Given the description of an element on the screen output the (x, y) to click on. 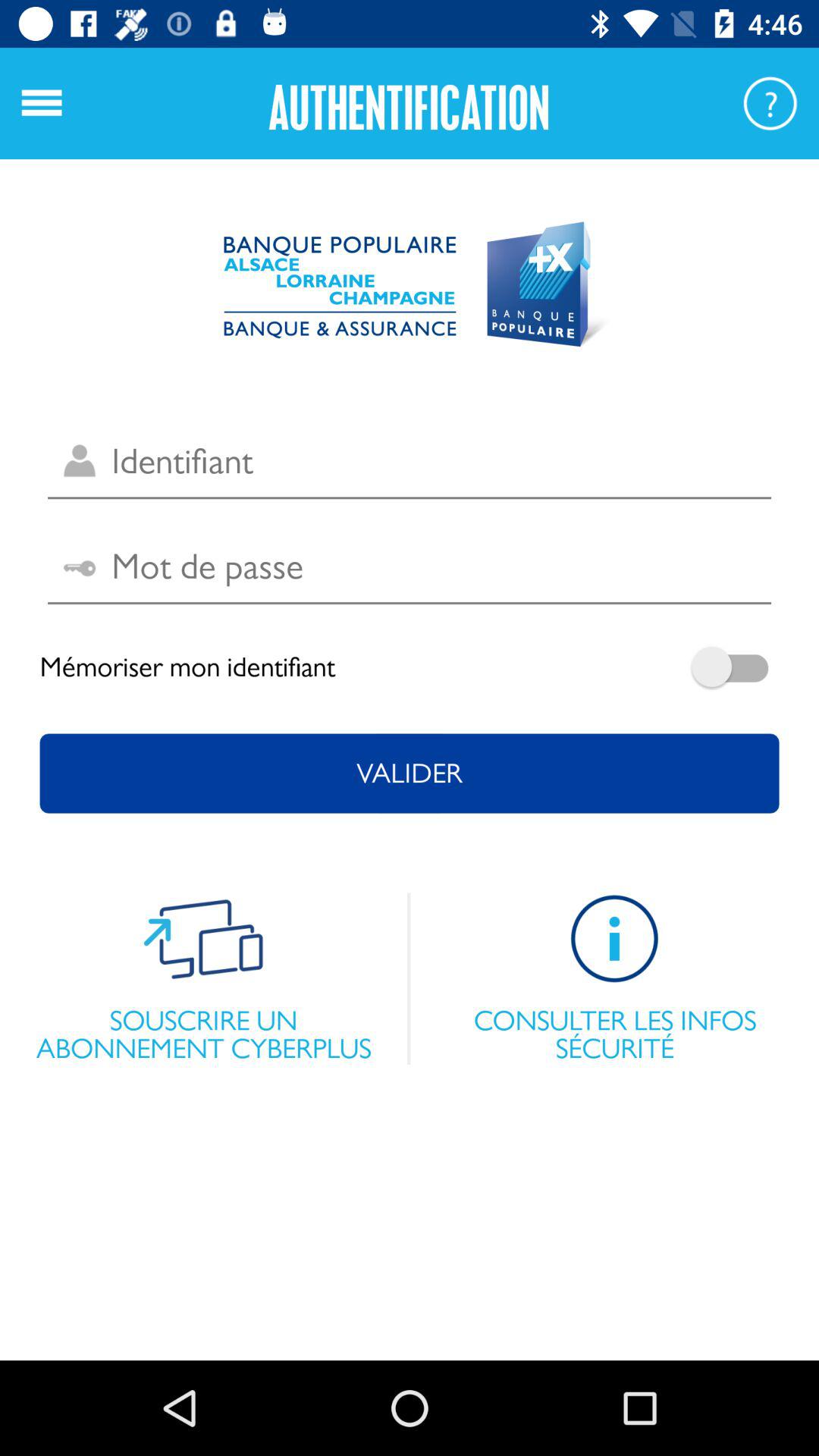
the question mark icon (770, 103)
